Given the description of an element on the screen output the (x, y) to click on. 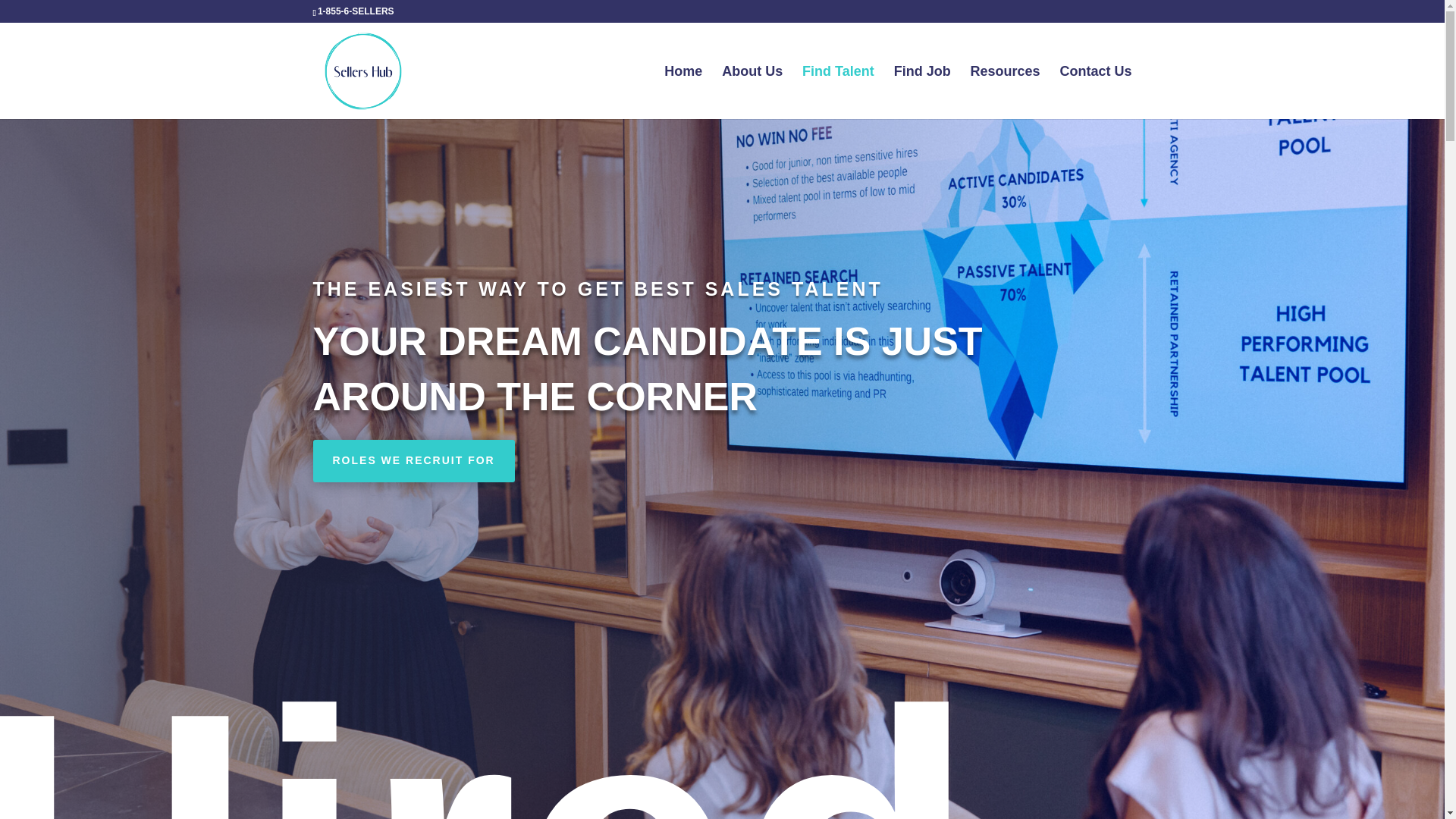
About Us (752, 92)
Find Talent (838, 92)
ROLES WE RECRUIT FOR (413, 460)
Find Job (921, 92)
Contact Us (1095, 92)
Resources (1006, 92)
